Given the description of an element on the screen output the (x, y) to click on. 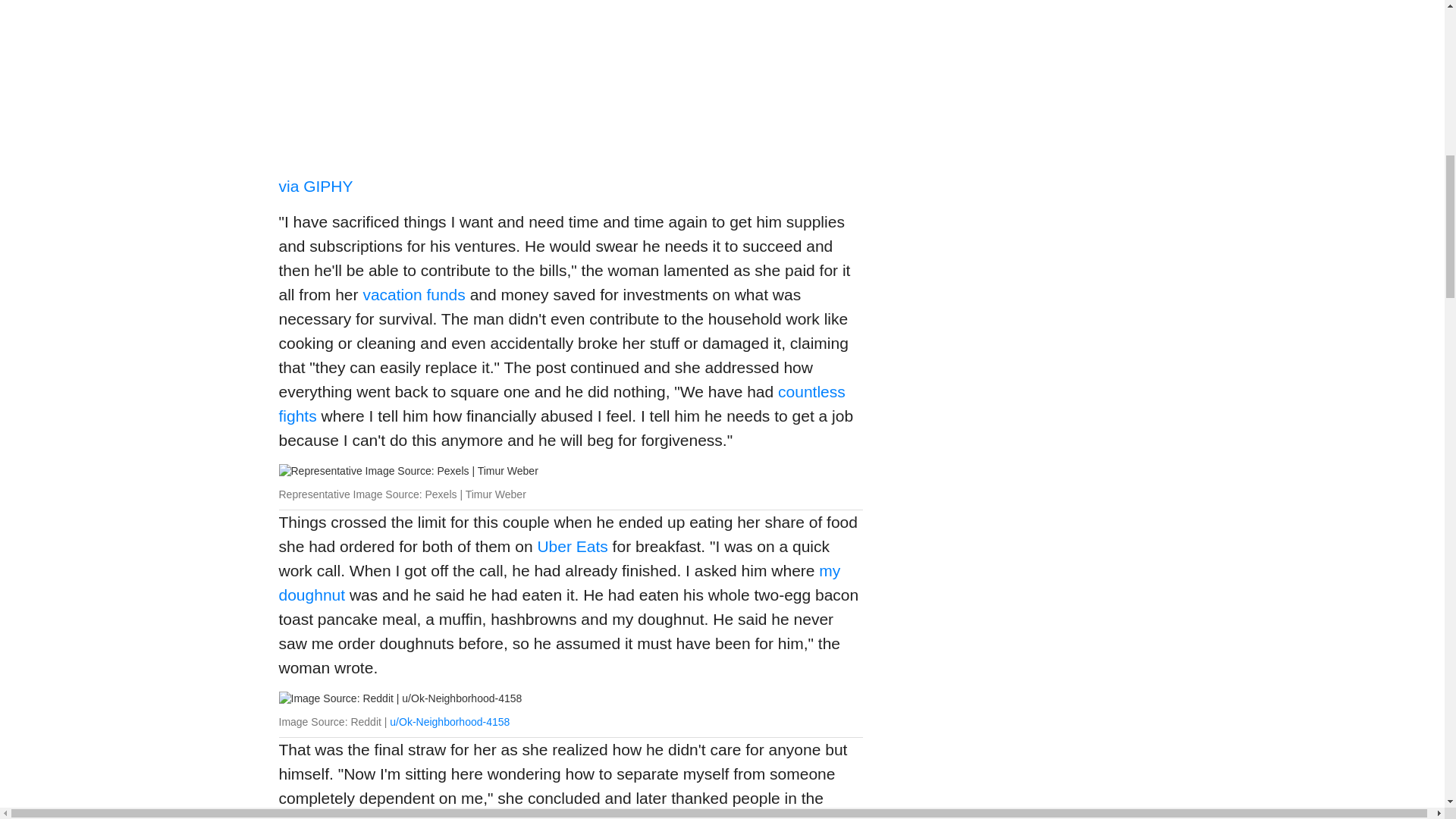
Uber Eats (572, 546)
vacation funds (413, 294)
via GIPHY (316, 185)
countless fights (562, 404)
my doughnut (560, 582)
